Given the description of an element on the screen output the (x, y) to click on. 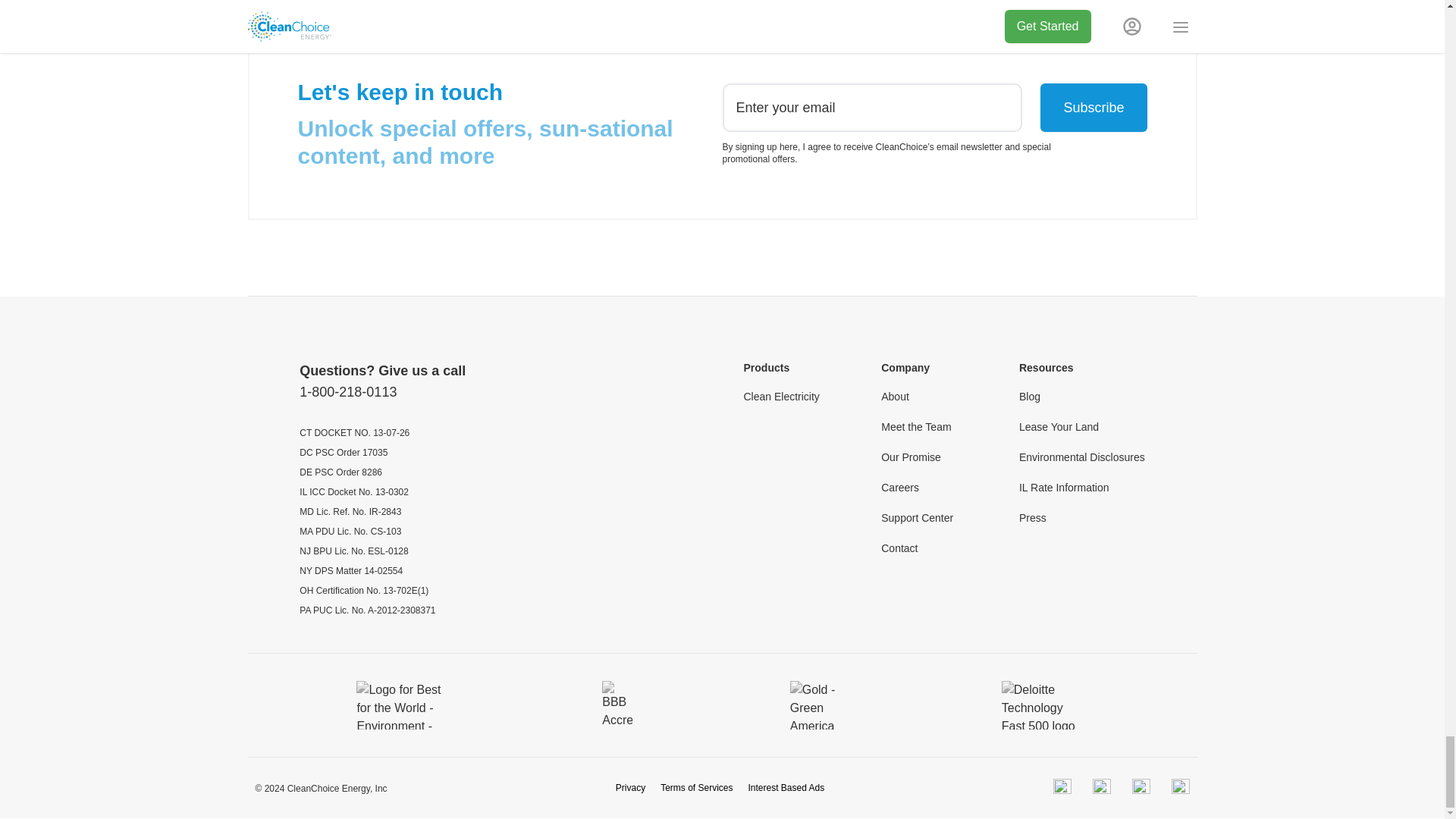
Clean Electricity (780, 396)
Press (1032, 517)
1-800-218-0113 (347, 391)
Support Center (916, 517)
Our Promise (910, 457)
Environmental Disclosures (1081, 457)
Contact (898, 548)
About (894, 396)
Subscribe (1094, 107)
Blog (1030, 396)
Lease Your Land (1059, 426)
Meet the Team (915, 426)
Careers (899, 487)
IL Rate Information (1064, 487)
